Given the description of an element on the screen output the (x, y) to click on. 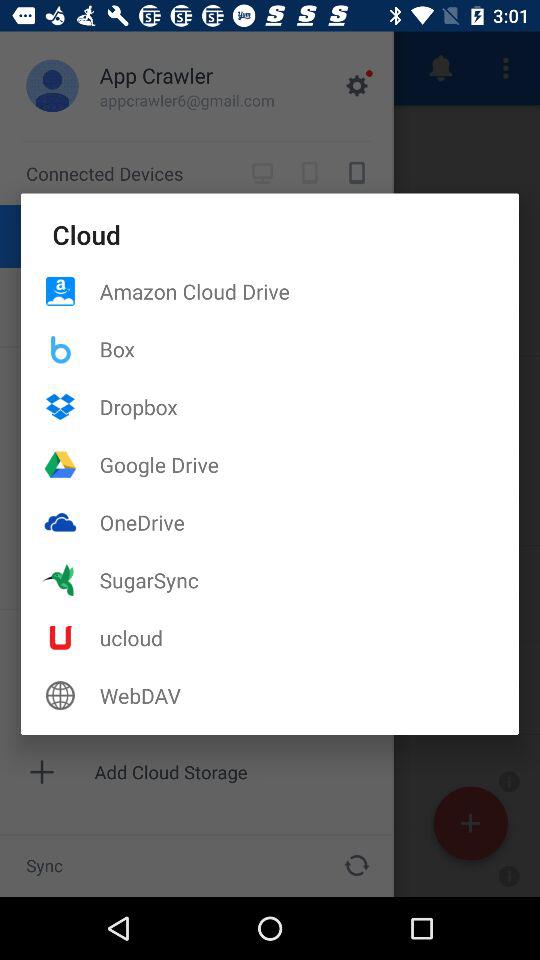
select dropbox icon (309, 406)
